Given the description of an element on the screen output the (x, y) to click on. 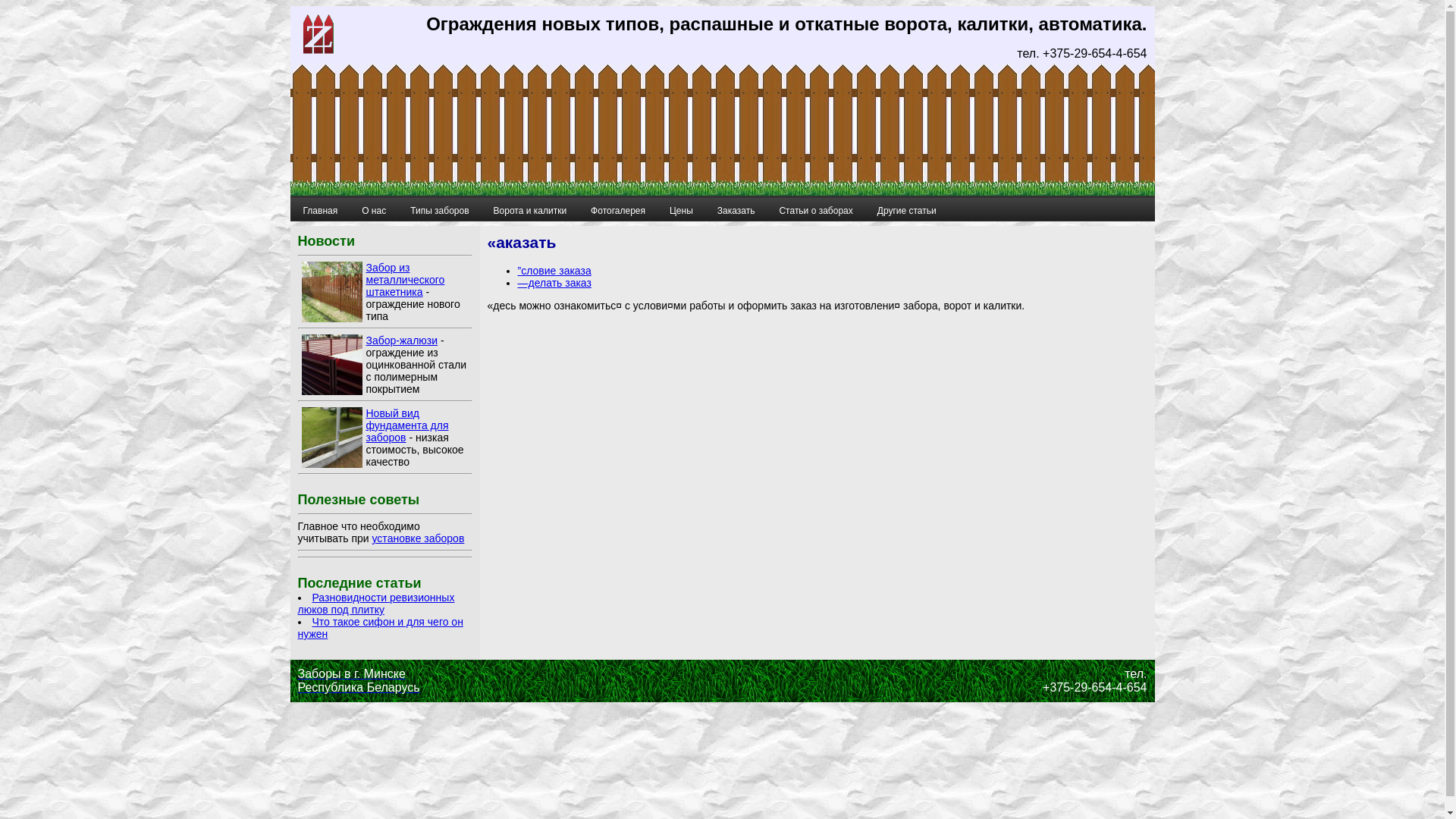
LiveInternet Element type: hover (722, 680)
